Given the description of an element on the screen output the (x, y) to click on. 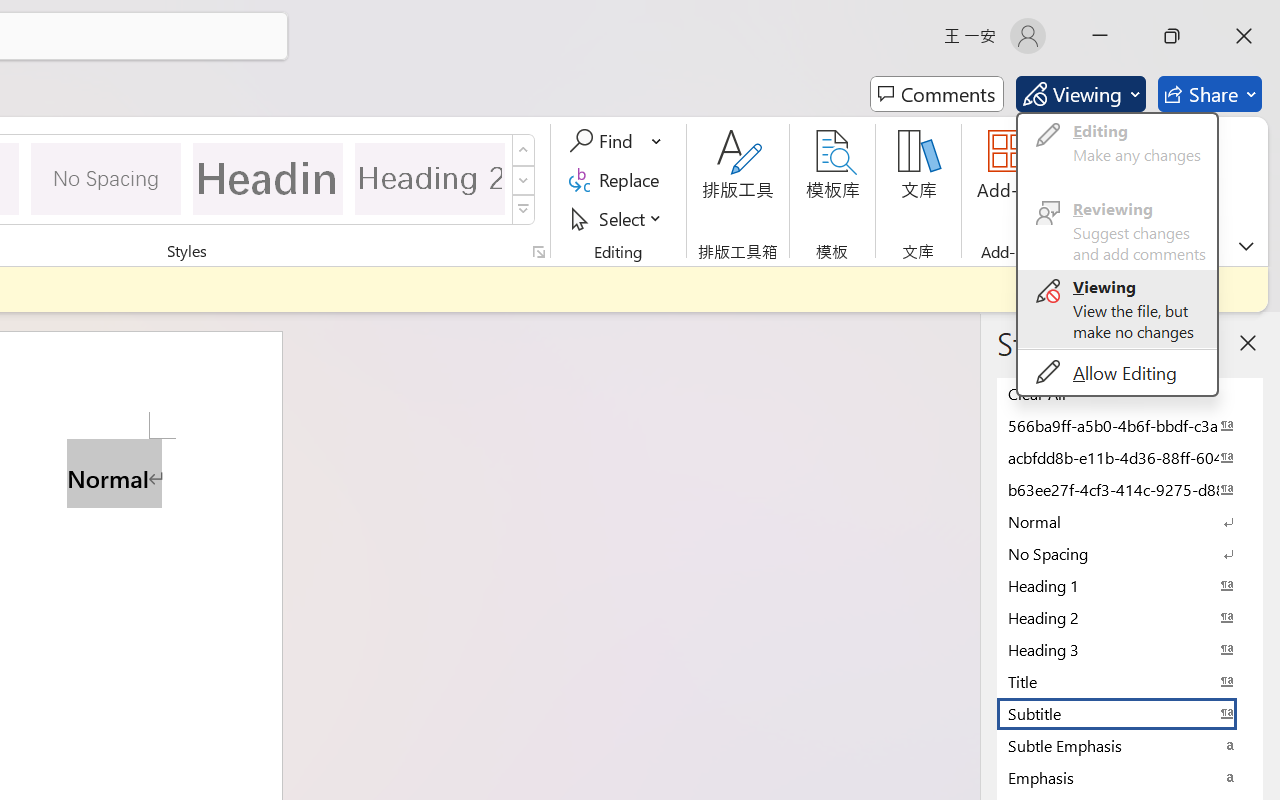
Title (1130, 681)
No Spacing (1130, 553)
Row up (523, 150)
Subtitle (1130, 713)
566ba9ff-a5b0-4b6f-bbdf-c3ab41993fc2 (1130, 425)
Normal (1130, 521)
Styles... (538, 252)
Row Down (523, 180)
